Given the description of an element on the screen output the (x, y) to click on. 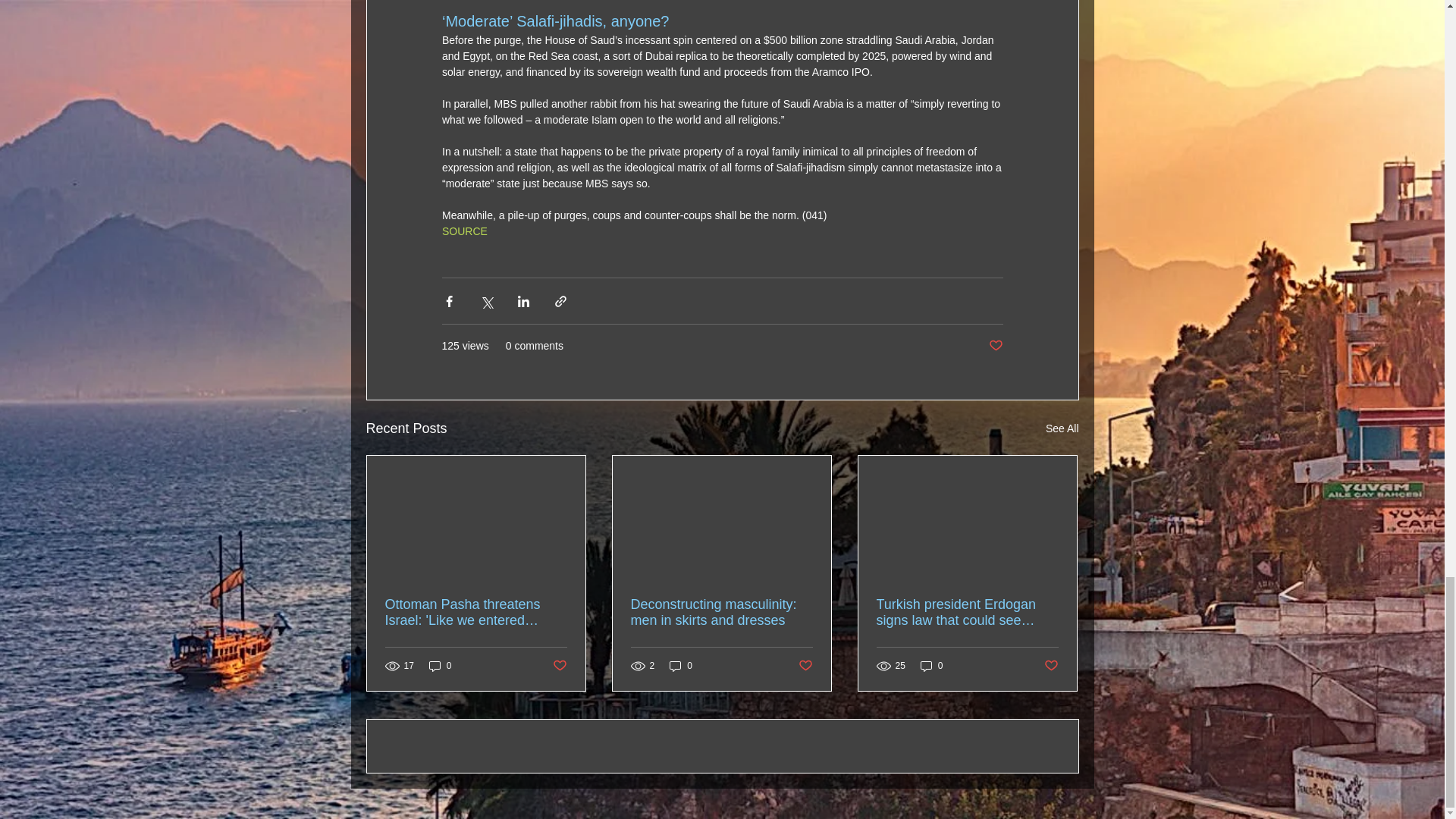
Post not marked as liked (558, 665)
Post not marked as liked (1050, 665)
0 (440, 666)
Post not marked as liked (995, 345)
Deconstructing masculinity: men in skirts and dresses (721, 612)
0 (931, 666)
0 (681, 666)
SOURCE (463, 231)
See All (1061, 428)
Post not marked as liked (804, 665)
